Given the description of an element on the screen output the (x, y) to click on. 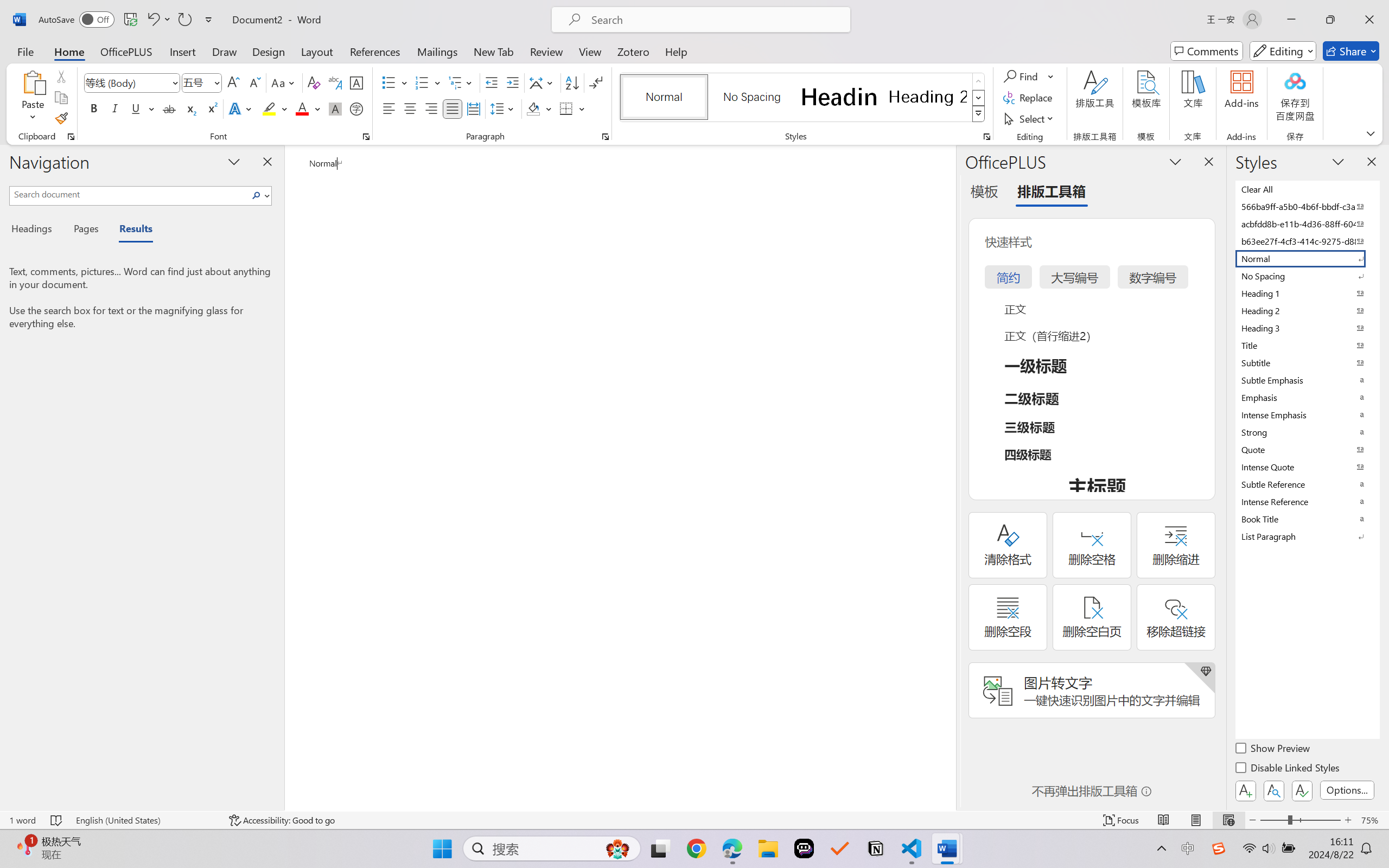
Intense Reference (1306, 501)
Font Color Red (302, 108)
Search document (128, 193)
Accessibility Checker Accessibility: Good to go (282, 819)
Paragraph... (605, 136)
AutomationID: QuickStylesGallery (802, 97)
Multilevel List (461, 82)
New Tab (493, 51)
Quote (1306, 449)
Grow Font (233, 82)
Emphasis (1306, 397)
Text Highlight Color Yellow (269, 108)
Intense Emphasis (1306, 414)
